Given the description of an element on the screen output the (x, y) to click on. 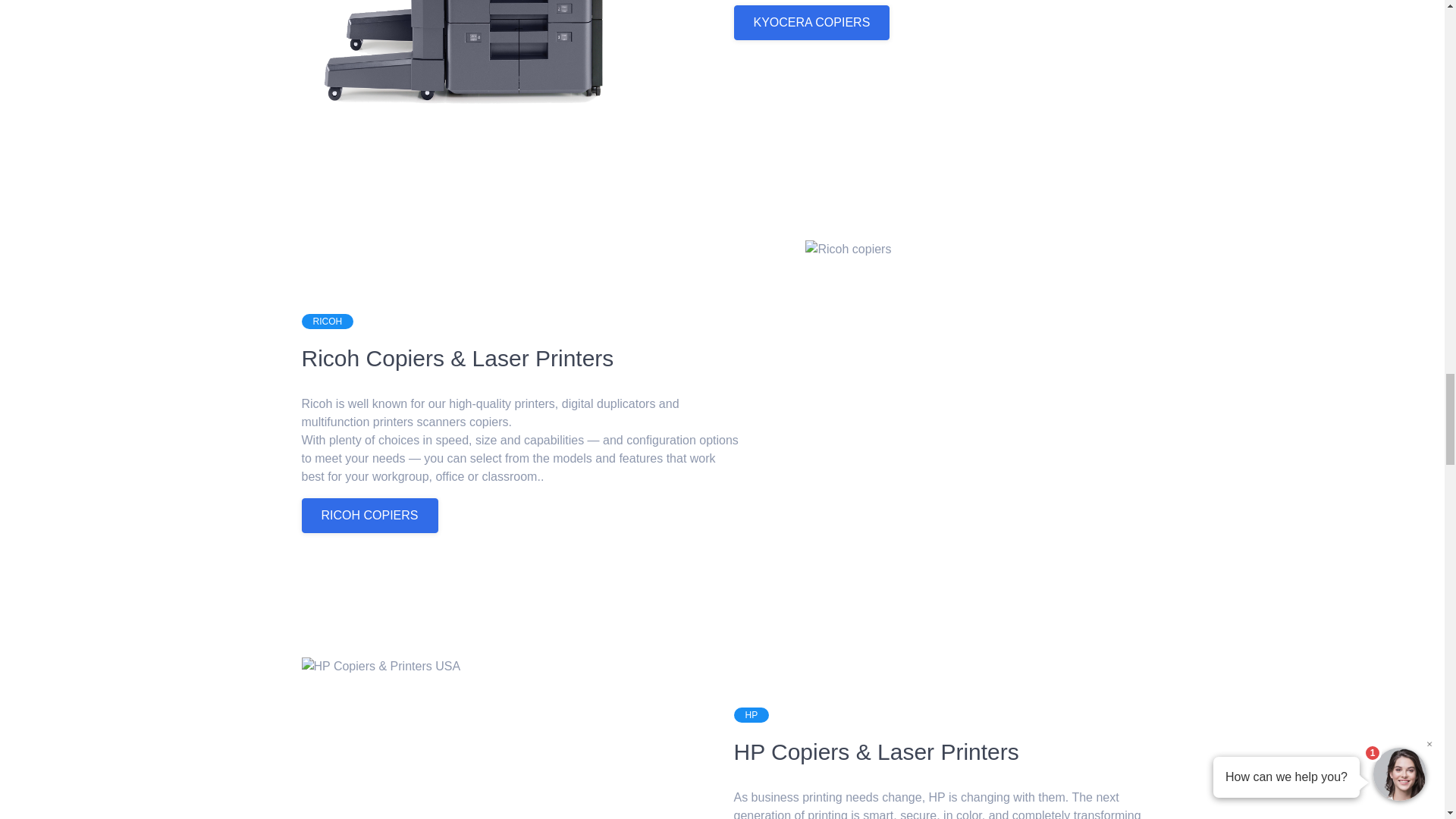
RICOH COPIERS (369, 515)
KYOCERA COPIERS (811, 22)
